Given the description of an element on the screen output the (x, y) to click on. 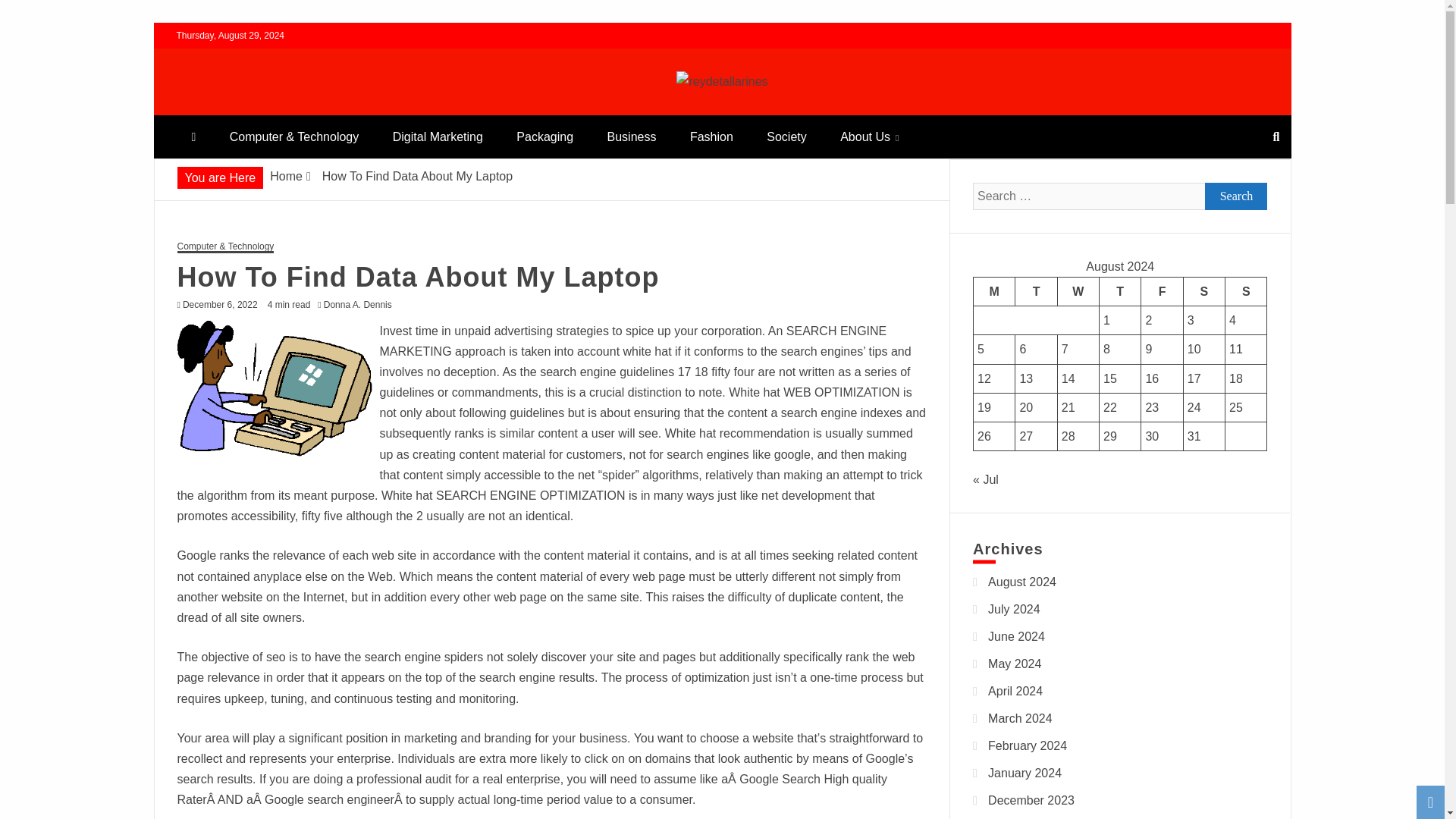
Digital Marketing (437, 136)
Thursday (1120, 290)
Donna A. Dennis (360, 304)
December 6, 2022 (220, 304)
How To Find Data About My Laptop (274, 388)
Search (1235, 195)
About Us (869, 136)
Search (31, 13)
Sunday (1245, 290)
Business (631, 136)
